Given the description of an element on the screen output the (x, y) to click on. 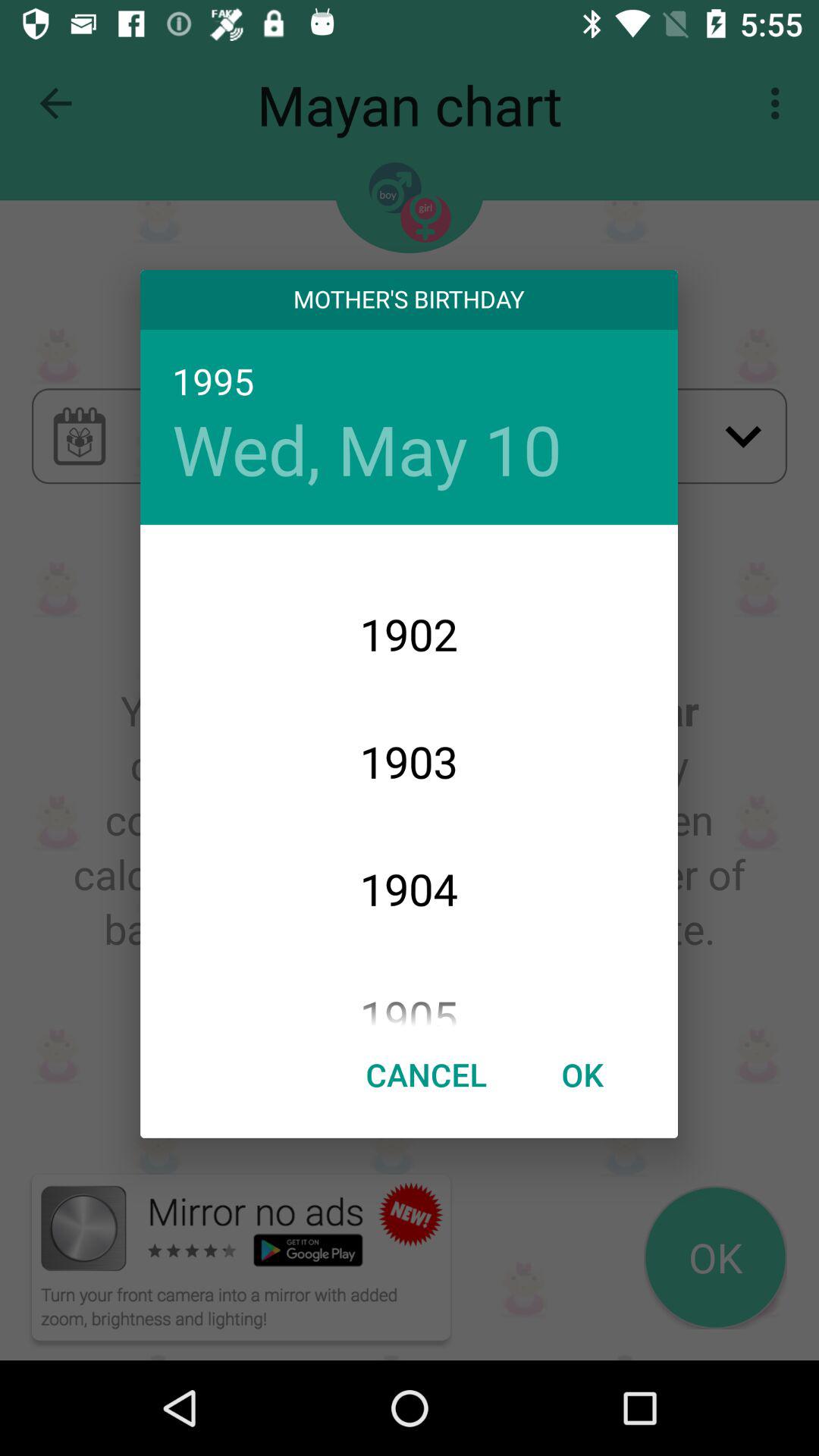
tap item below the 1905 icon (582, 1074)
